Given the description of an element on the screen output the (x, y) to click on. 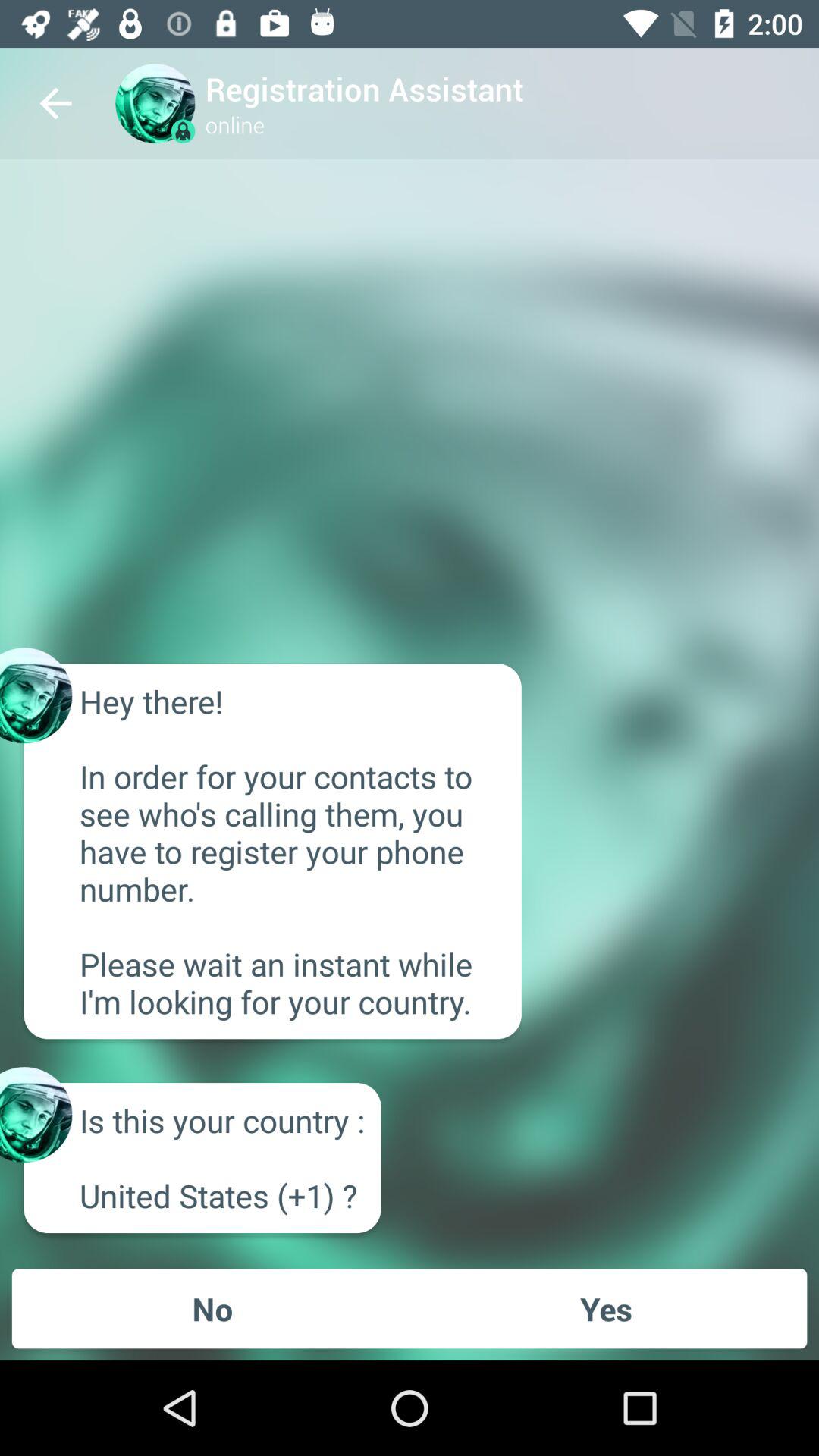
launch icon to the right of the no item (606, 1308)
